Given the description of an element on the screen output the (x, y) to click on. 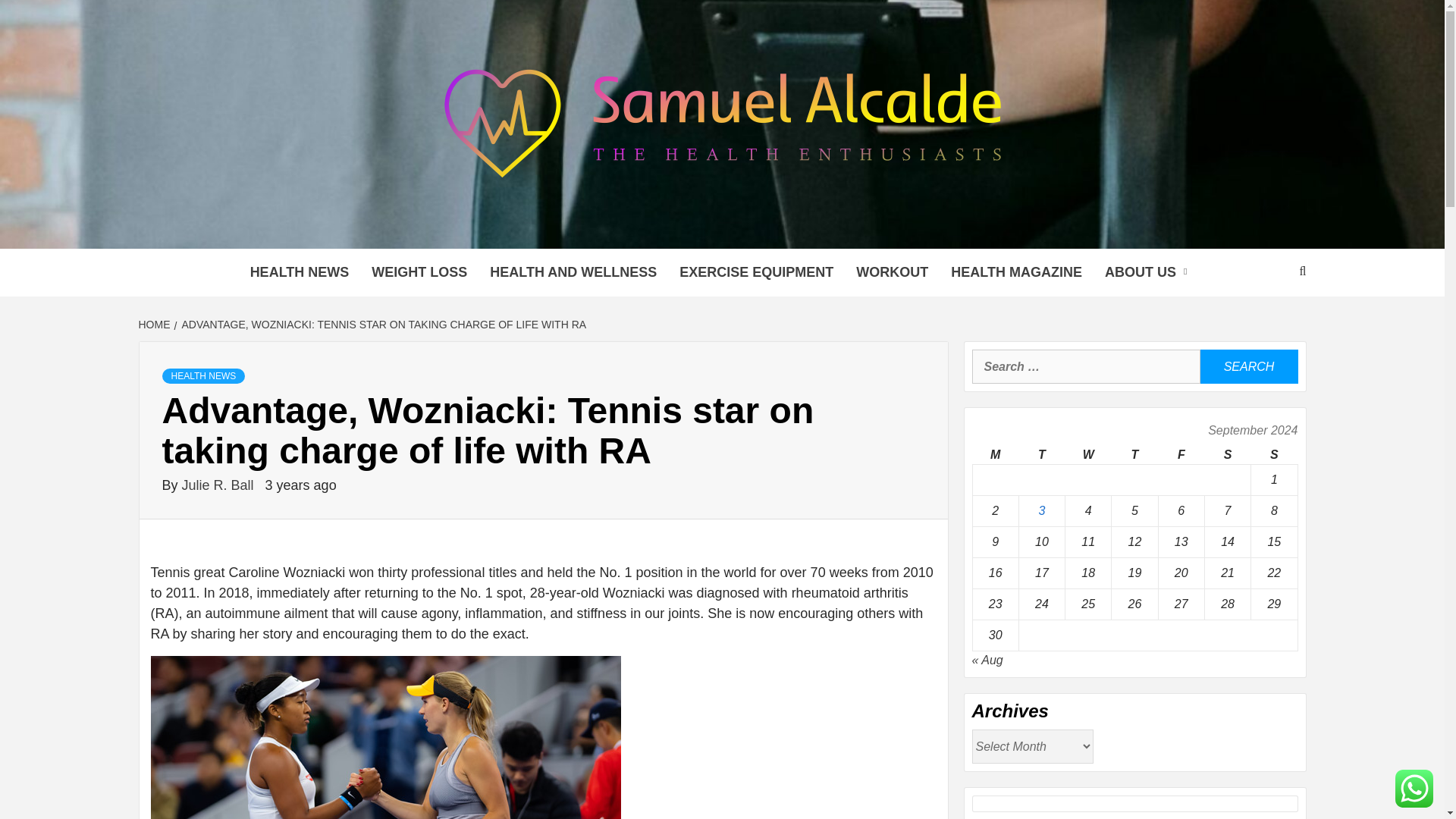
Sunday (1273, 455)
WEIGHT LOSS (419, 272)
WORKOUT (891, 272)
Julie R. Ball (219, 485)
Friday (1180, 455)
SAMUEL ALCALDE (491, 229)
Tuesday (1040, 455)
HEALTH NEWS (299, 272)
Monday (994, 455)
HOME (155, 324)
